Given the description of an element on the screen output the (x, y) to click on. 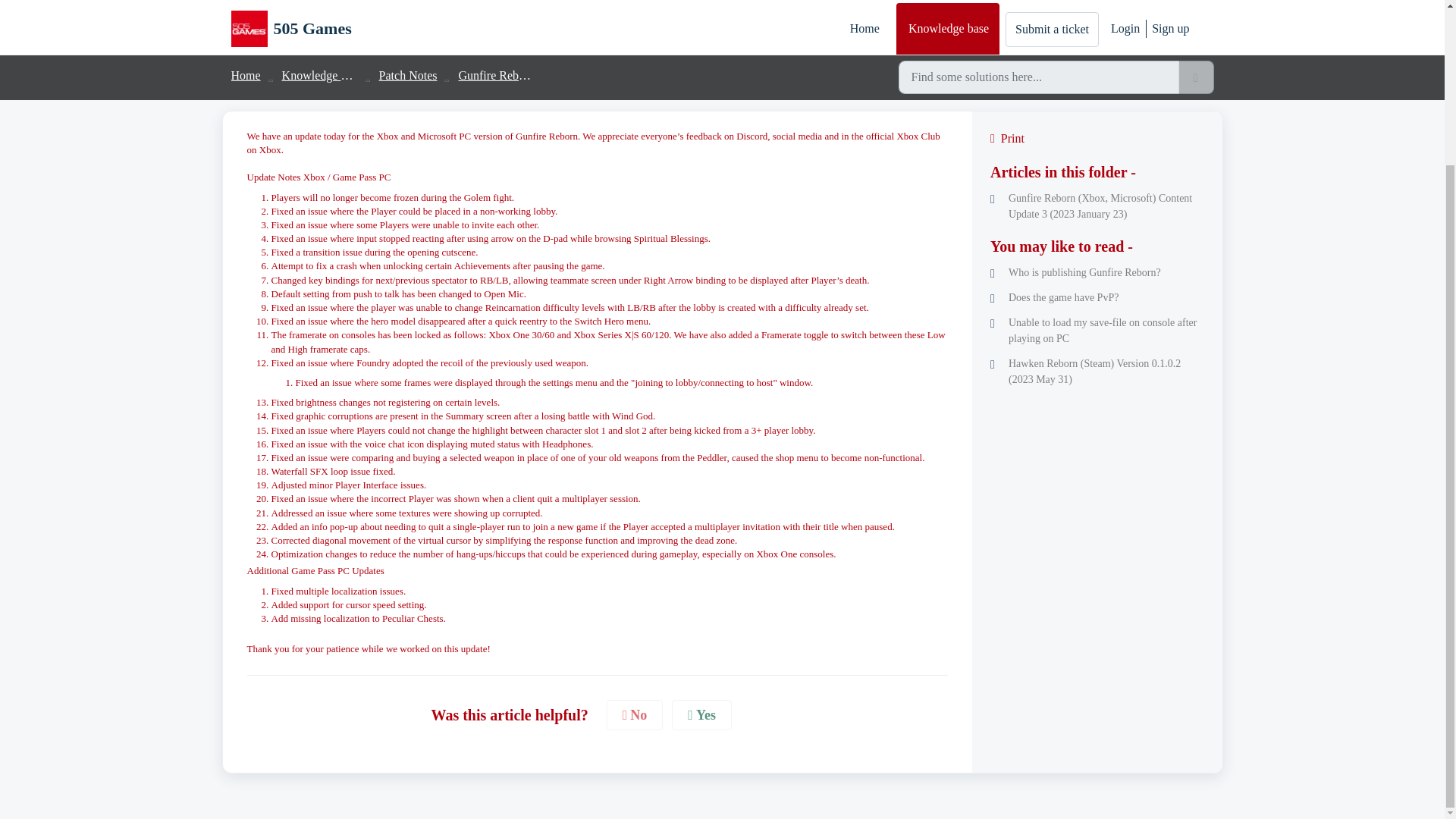
Print (1097, 138)
Yes (701, 715)
No (635, 715)
Does the game have PvP? (1097, 297)
Who is publishing Gunfire Reborn? (1097, 272)
Unable to load my save-file on console after playing on PC (1097, 330)
